Given the description of an element on the screen output the (x, y) to click on. 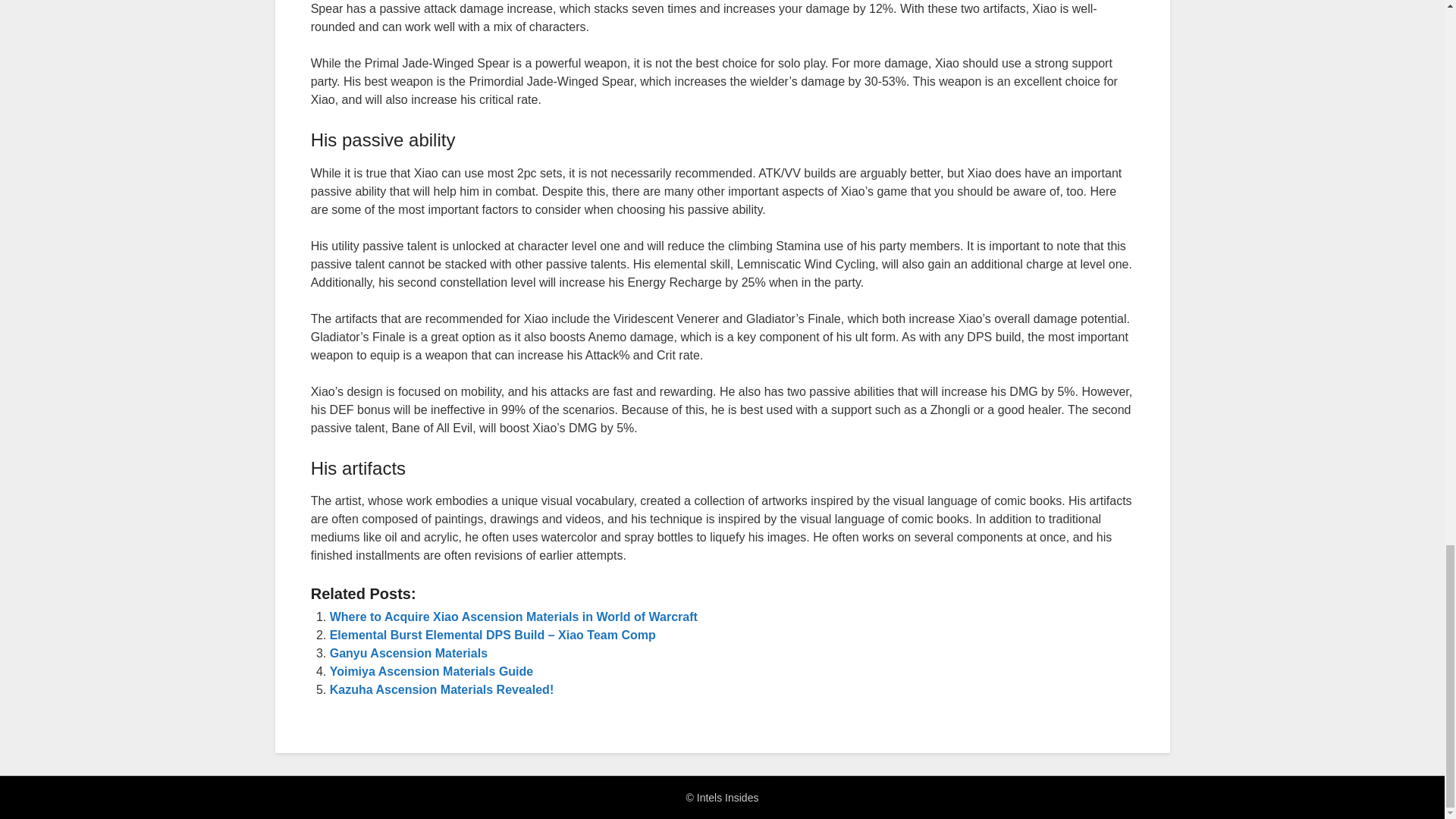
Kazuha Ascension Materials Revealed! (442, 689)
Kazuha Ascension Materials Revealed! (442, 689)
Ganyu Ascension Materials (408, 653)
Ganyu Ascension Materials (408, 653)
Yoimiya Ascension Materials Guide (432, 671)
Yoimiya Ascension Materials Guide (432, 671)
